Given the description of an element on the screen output the (x, y) to click on. 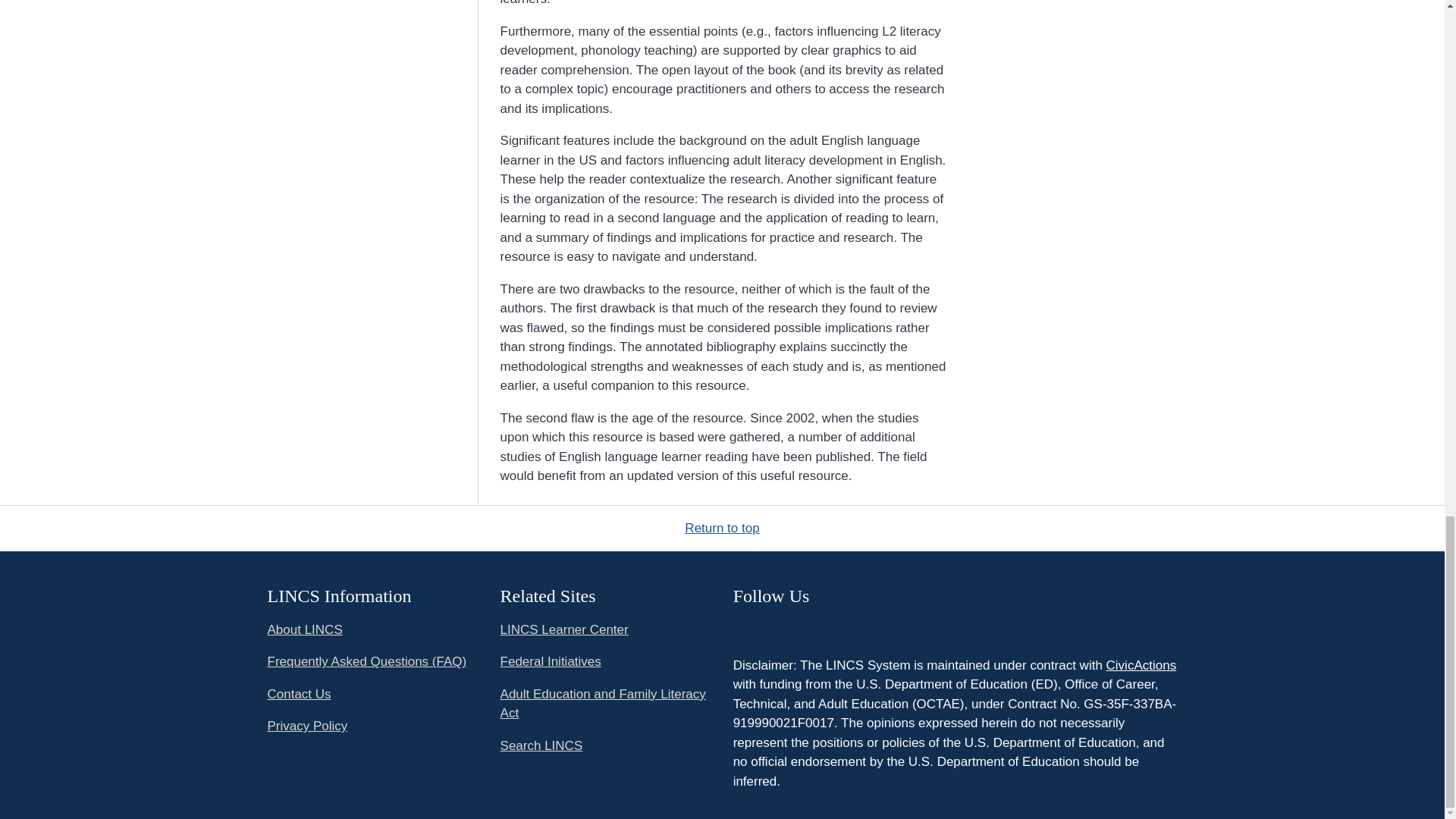
Follow LINCS on Twitter! (744, 627)
Watch LINCS videos on YouTube! (774, 627)
Join LINCS on LinkedIn! (804, 627)
